Given the description of an element on the screen output the (x, y) to click on. 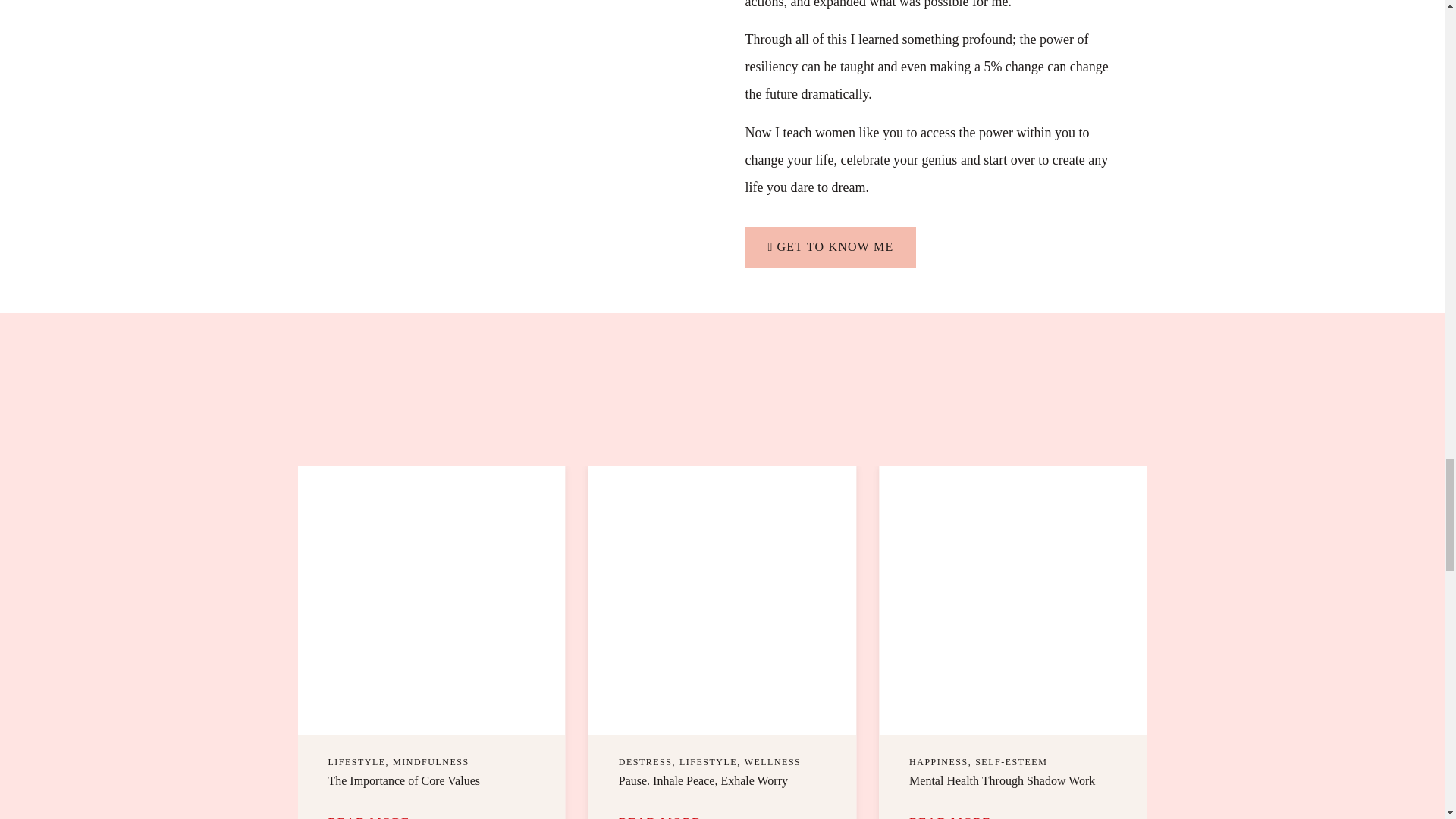
GET TO KNOW ME (829, 246)
